Given the description of an element on the screen output the (x, y) to click on. 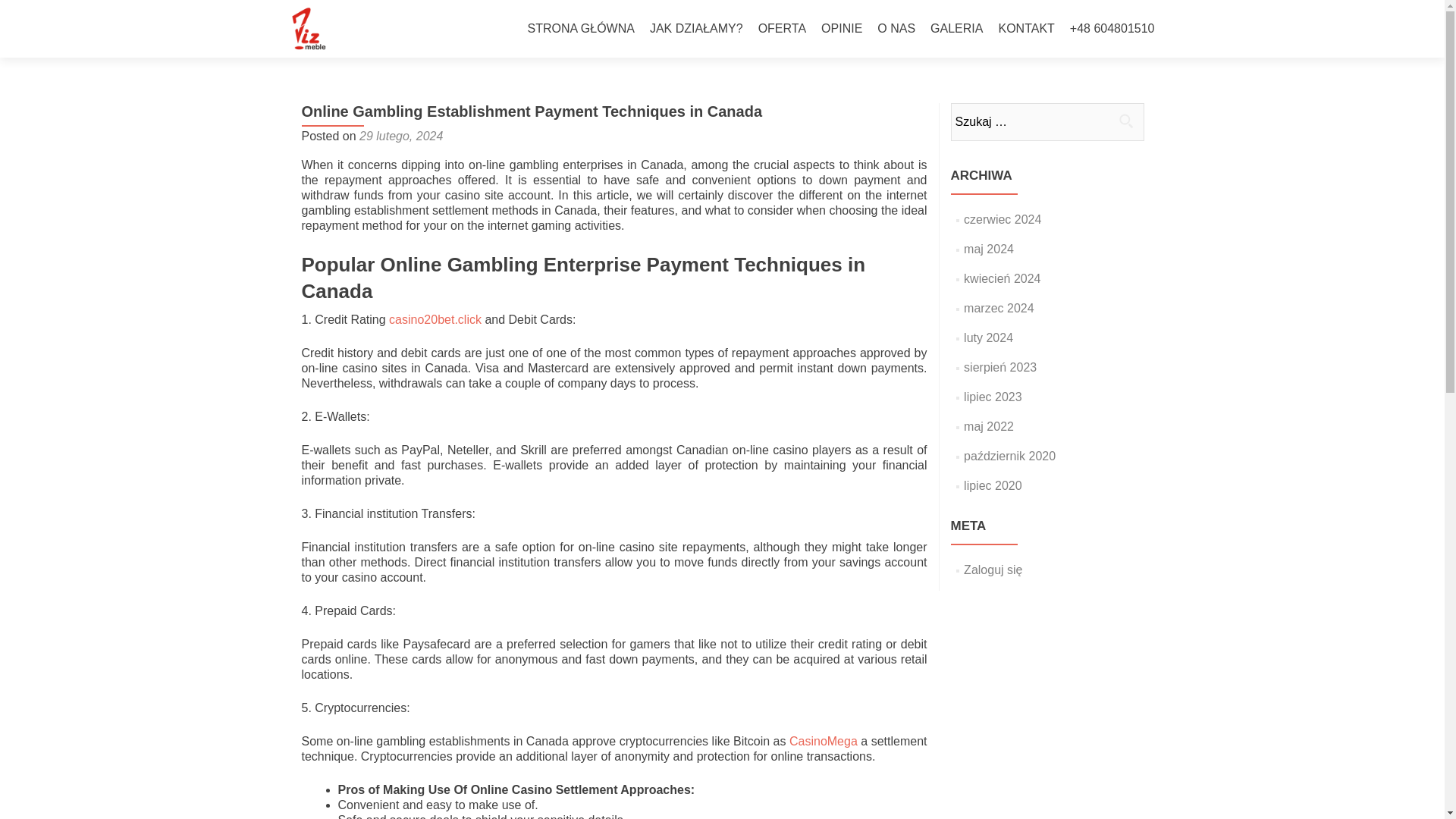
czerwiec 2024 (1002, 219)
KONTAKT (1025, 28)
29 lutego, 2024 (400, 135)
maj 2024 (988, 248)
OFERTA (782, 28)
Szukaj (1125, 120)
marzec 2024 (998, 308)
casino20bet.click (434, 318)
GALERIA (956, 28)
OPINIE (841, 28)
Szukaj (1125, 120)
lipiec 2020 (992, 485)
Szukaj (1125, 120)
O NAS (896, 28)
luty 2024 (988, 337)
